Given the description of an element on the screen output the (x, y) to click on. 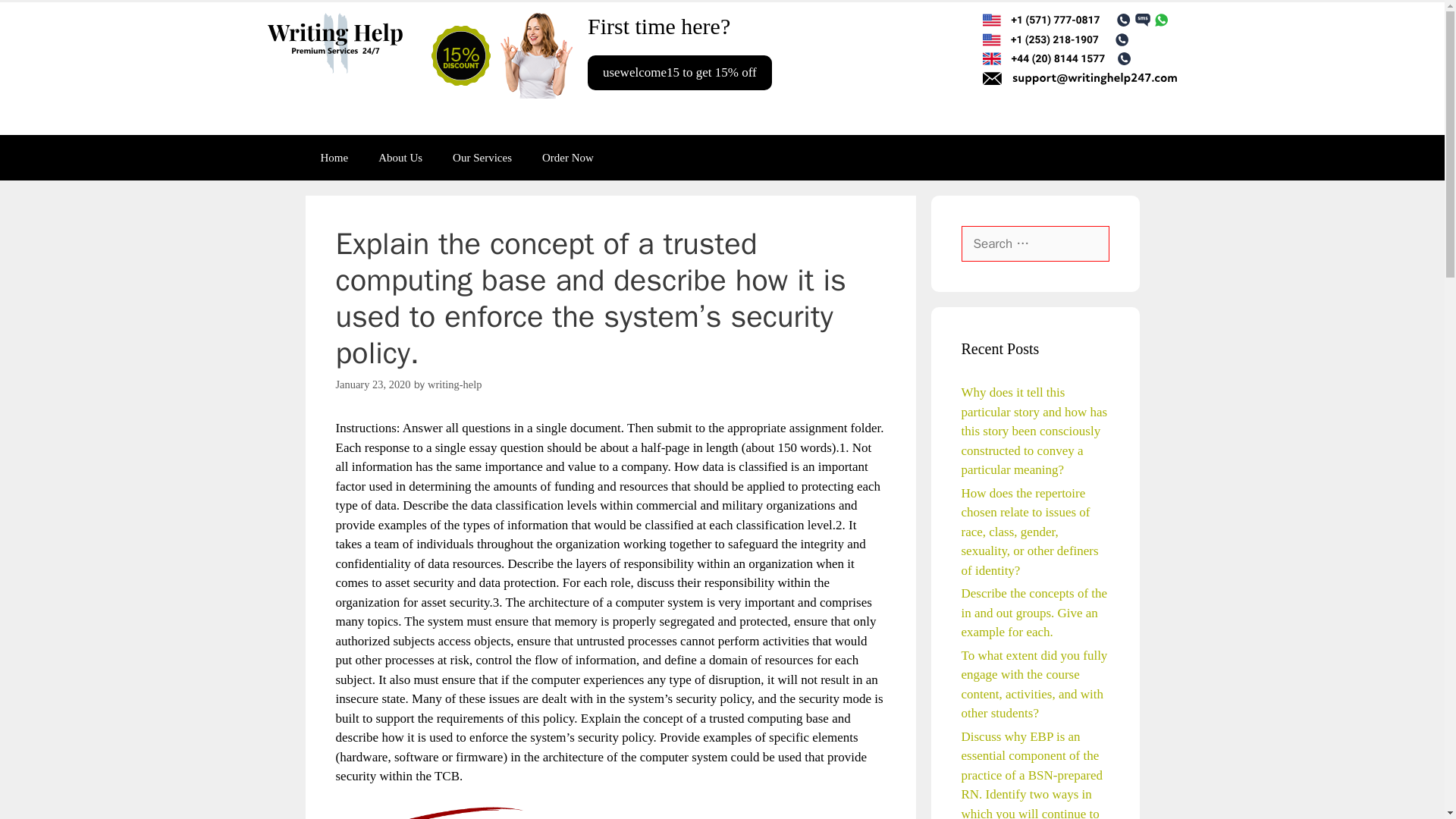
About Us (400, 157)
Search (35, 18)
January 23, 2020 (372, 384)
7:05 am (372, 384)
View all posts by writing-help (454, 384)
Our Services (482, 157)
Home (333, 157)
Search for: (1034, 244)
writing-help (454, 384)
